Given the description of an element on the screen output the (x, y) to click on. 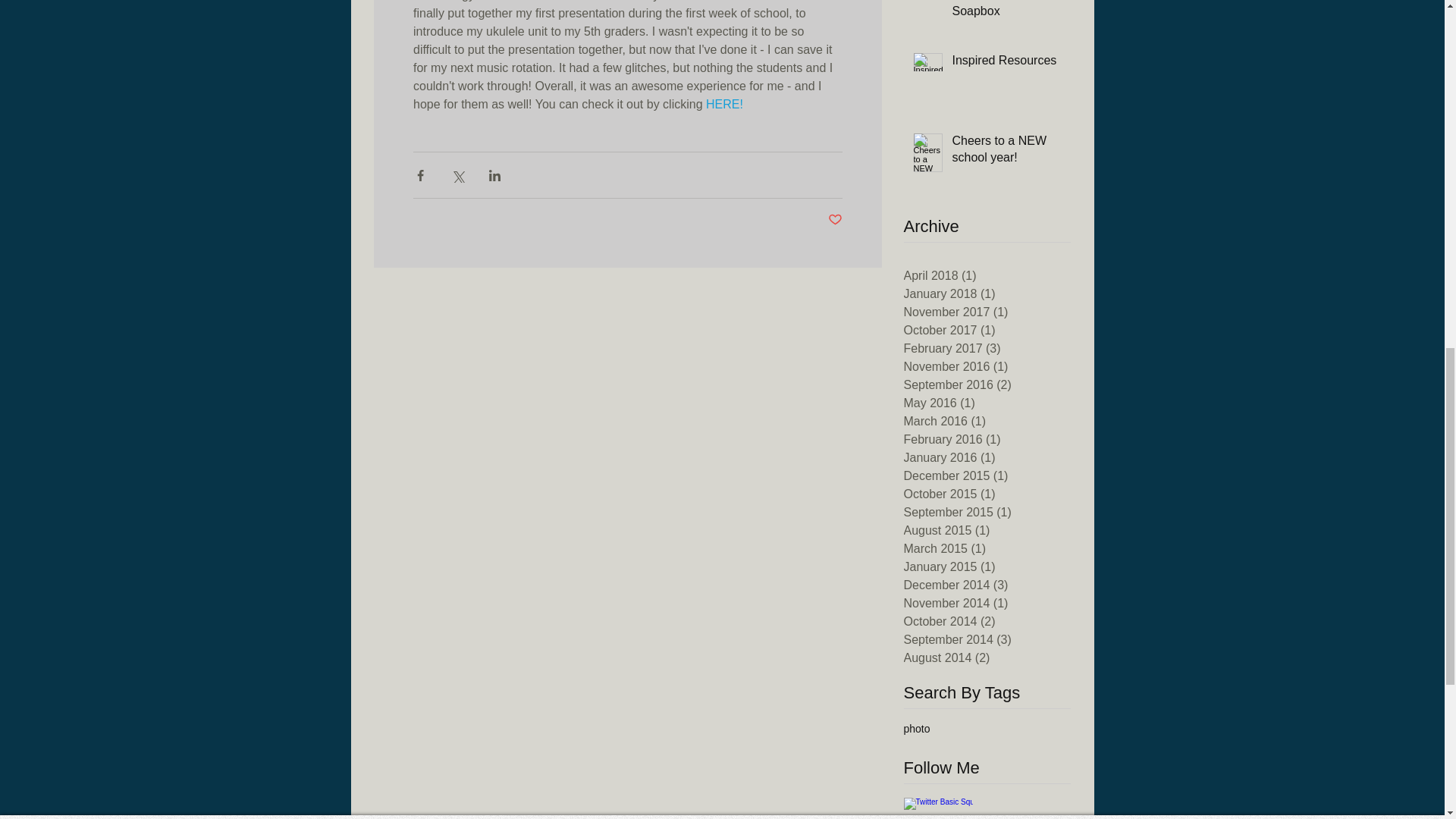
Post not marked as liked (835, 220)
Excuse Me While I Step On My Soapbox (1006, 12)
HERE!  (724, 103)
Cheers to a NEW school year! (1006, 152)
Inspired Resources (1006, 63)
